Given the description of an element on the screen output the (x, y) to click on. 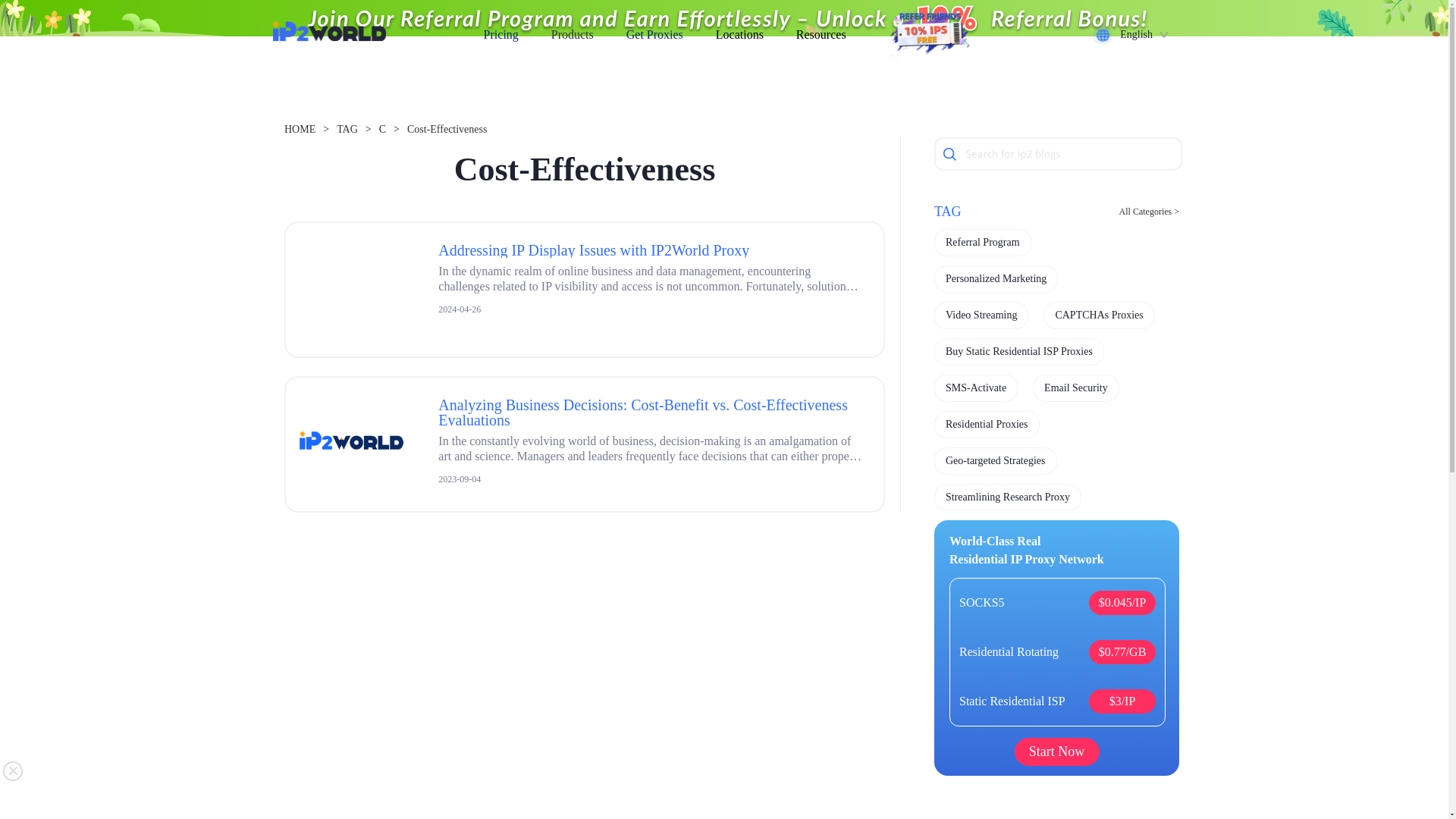
Products (572, 33)
Pricing (500, 33)
Get Proxies (654, 33)
